Given the description of an element on the screen output the (x, y) to click on. 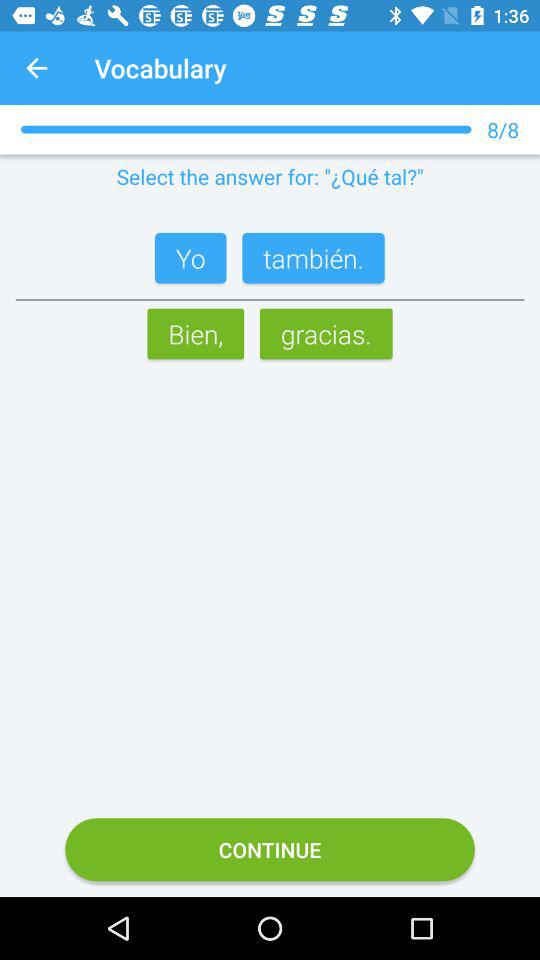
turn off the icon below the bien, icon (269, 849)
